Given the description of an element on the screen output the (x, y) to click on. 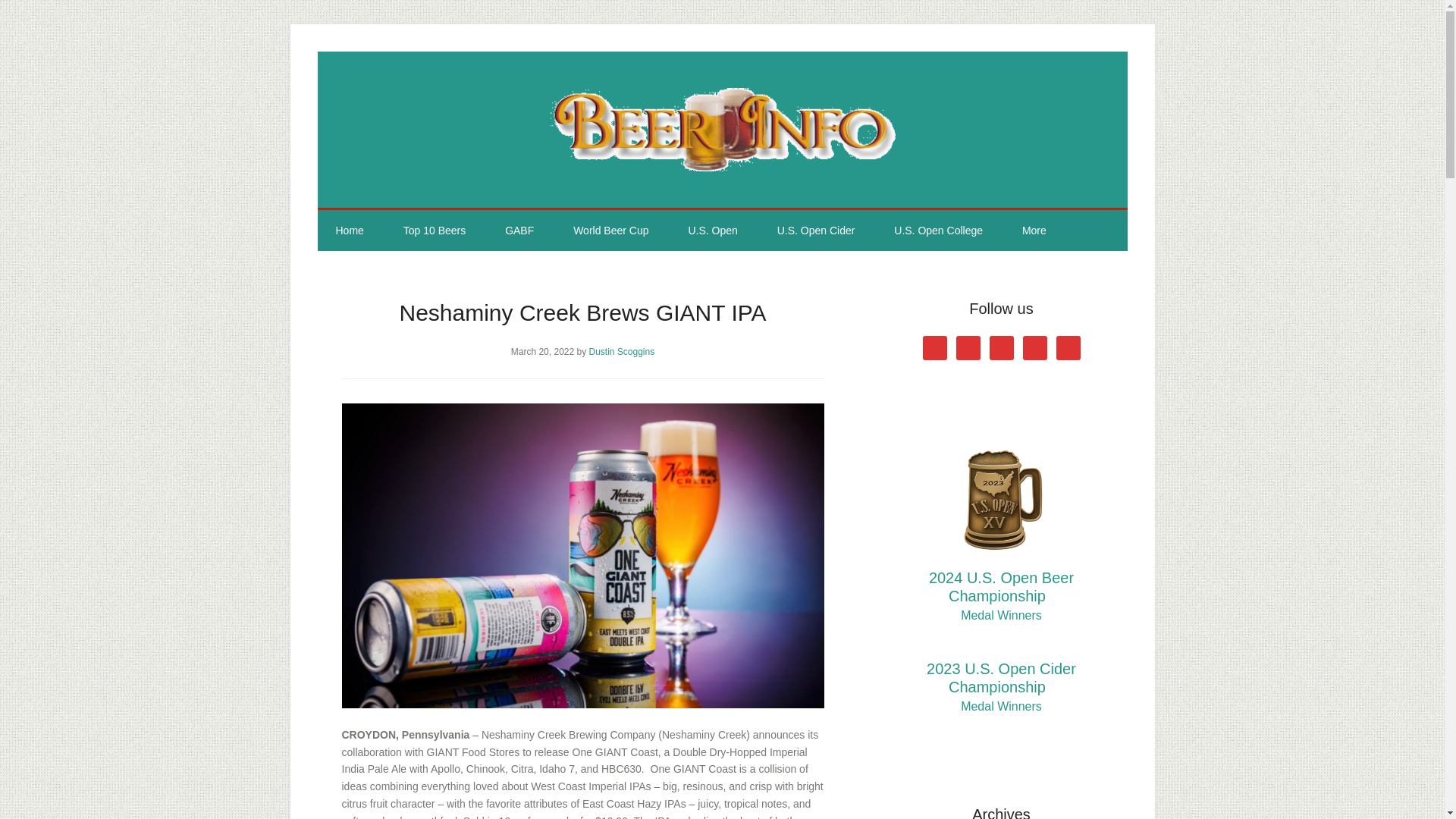
GABF (518, 229)
Beer Info (721, 129)
Home (349, 229)
Top 10 Beers (434, 229)
World Beer Cup (610, 229)
